Given the description of an element on the screen output the (x, y) to click on. 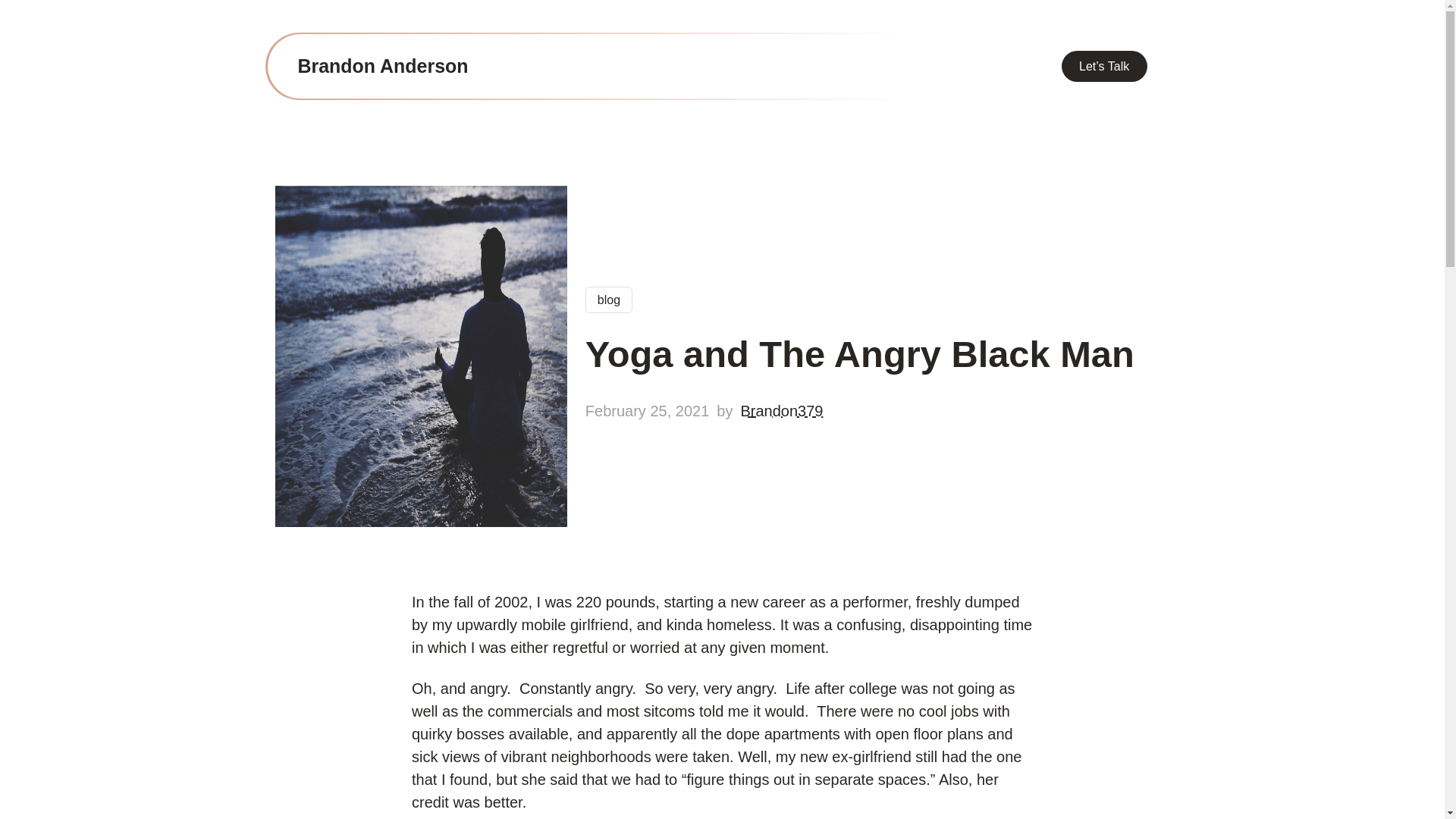
blog (608, 299)
Brandon379 (780, 410)
Brandon Anderson (382, 65)
